Given the description of an element on the screen output the (x, y) to click on. 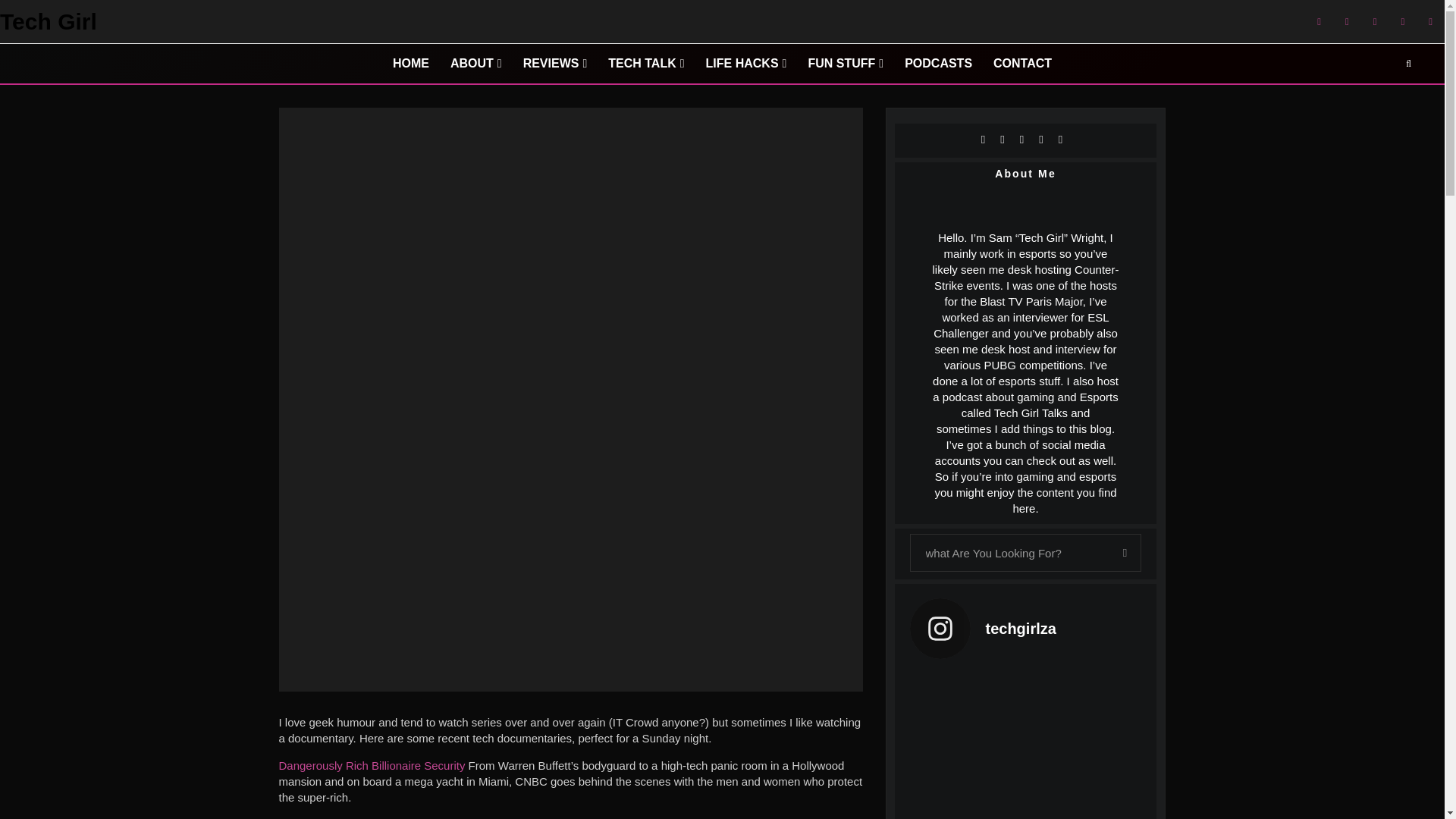
ABOUT (475, 63)
REVIEWS (555, 63)
TECH TALK (645, 63)
HOME (410, 63)
Tech Girl (48, 21)
